Given the description of an element on the screen output the (x, y) to click on. 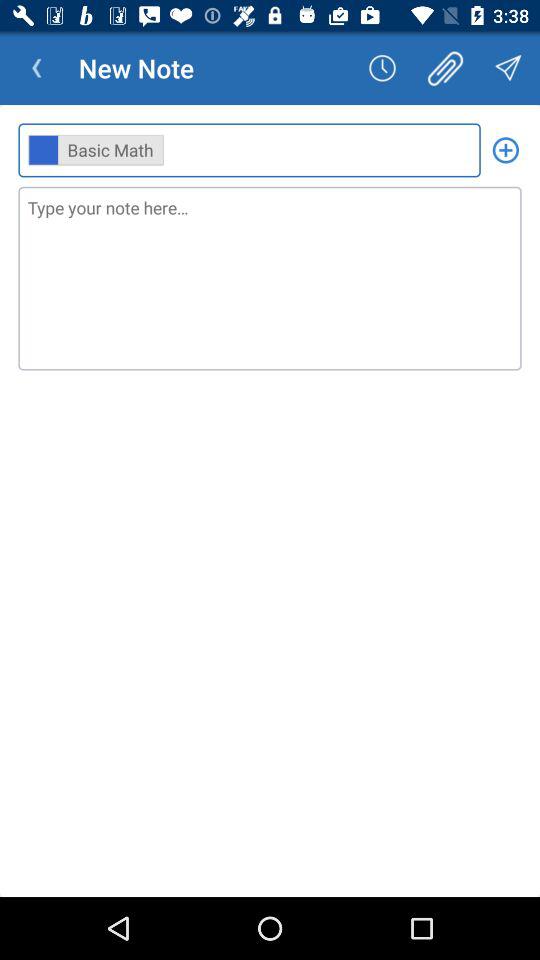
type note (269, 278)
